Given the description of an element on the screen output the (x, y) to click on. 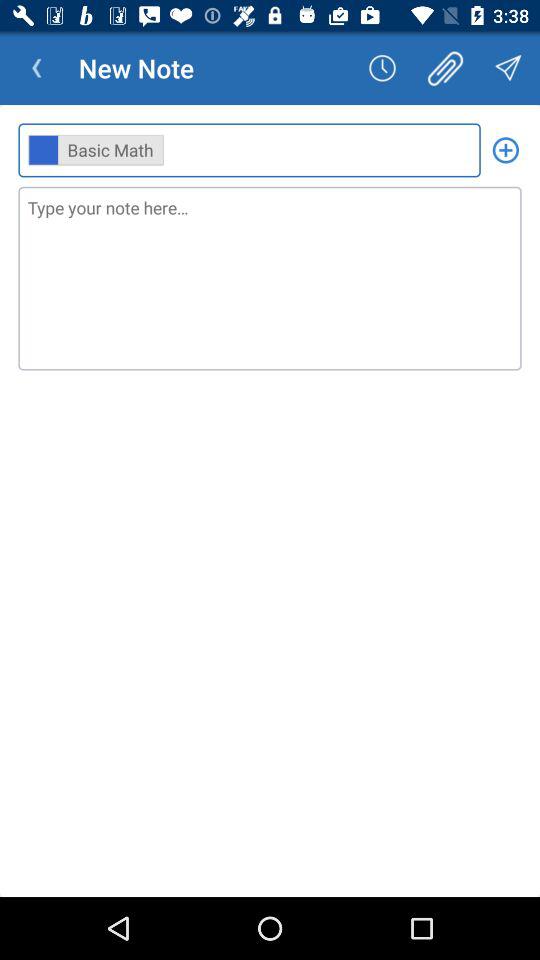
type note (269, 278)
